Given the description of an element on the screen output the (x, y) to click on. 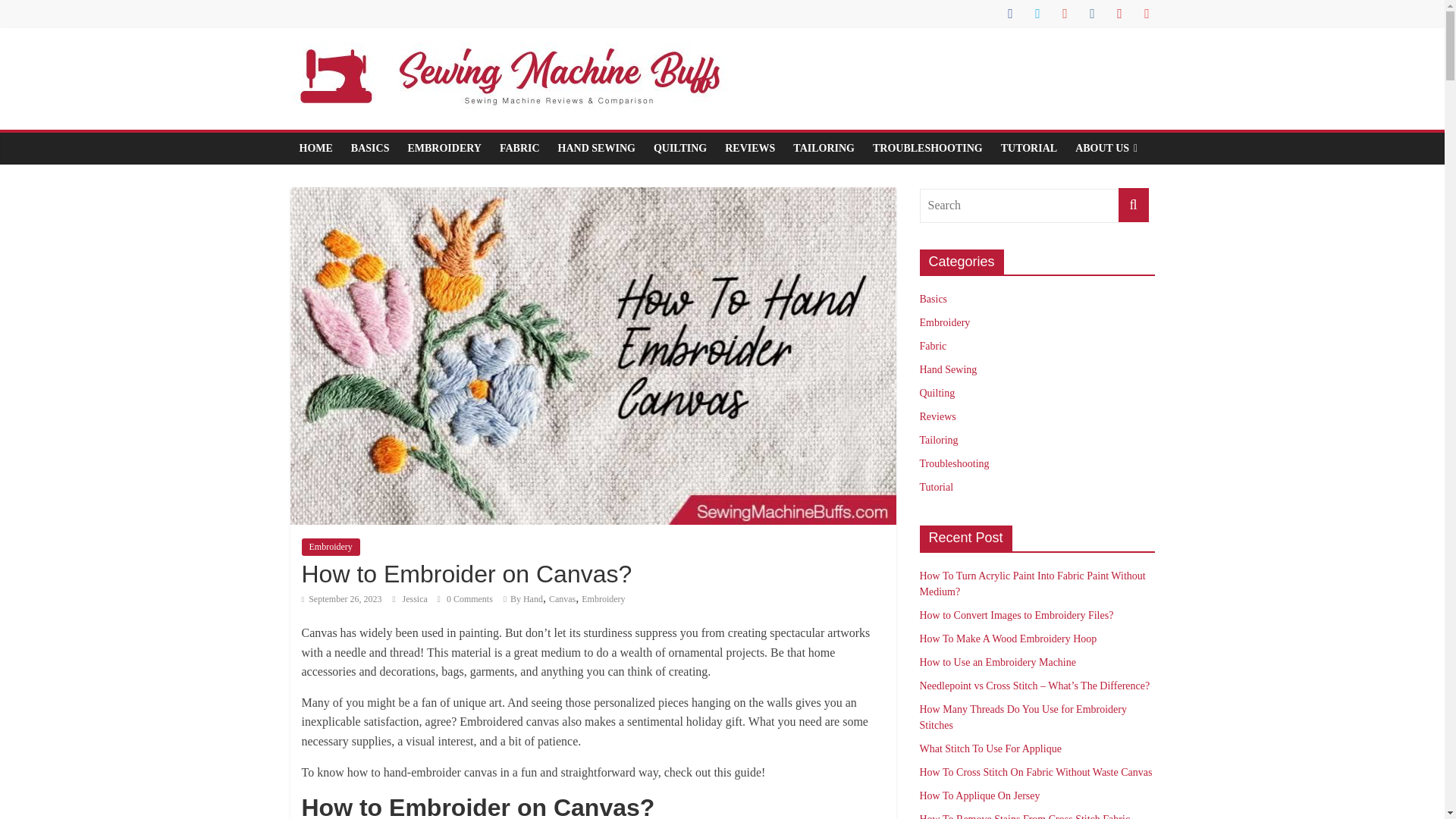
ABOUT US (1106, 148)
HAND SEWING (596, 148)
By Hand (527, 598)
TUTORIAL (1028, 148)
September 26, 2023 (341, 598)
TROUBLESHOOTING (927, 148)
BASICS (370, 148)
Embroidery (602, 598)
EMBROIDERY (443, 148)
8:30 am (341, 598)
Canvas (561, 598)
TAILORING (823, 148)
Jessica (416, 598)
Embroidery (330, 546)
0 Comments (465, 598)
